Given the description of an element on the screen output the (x, y) to click on. 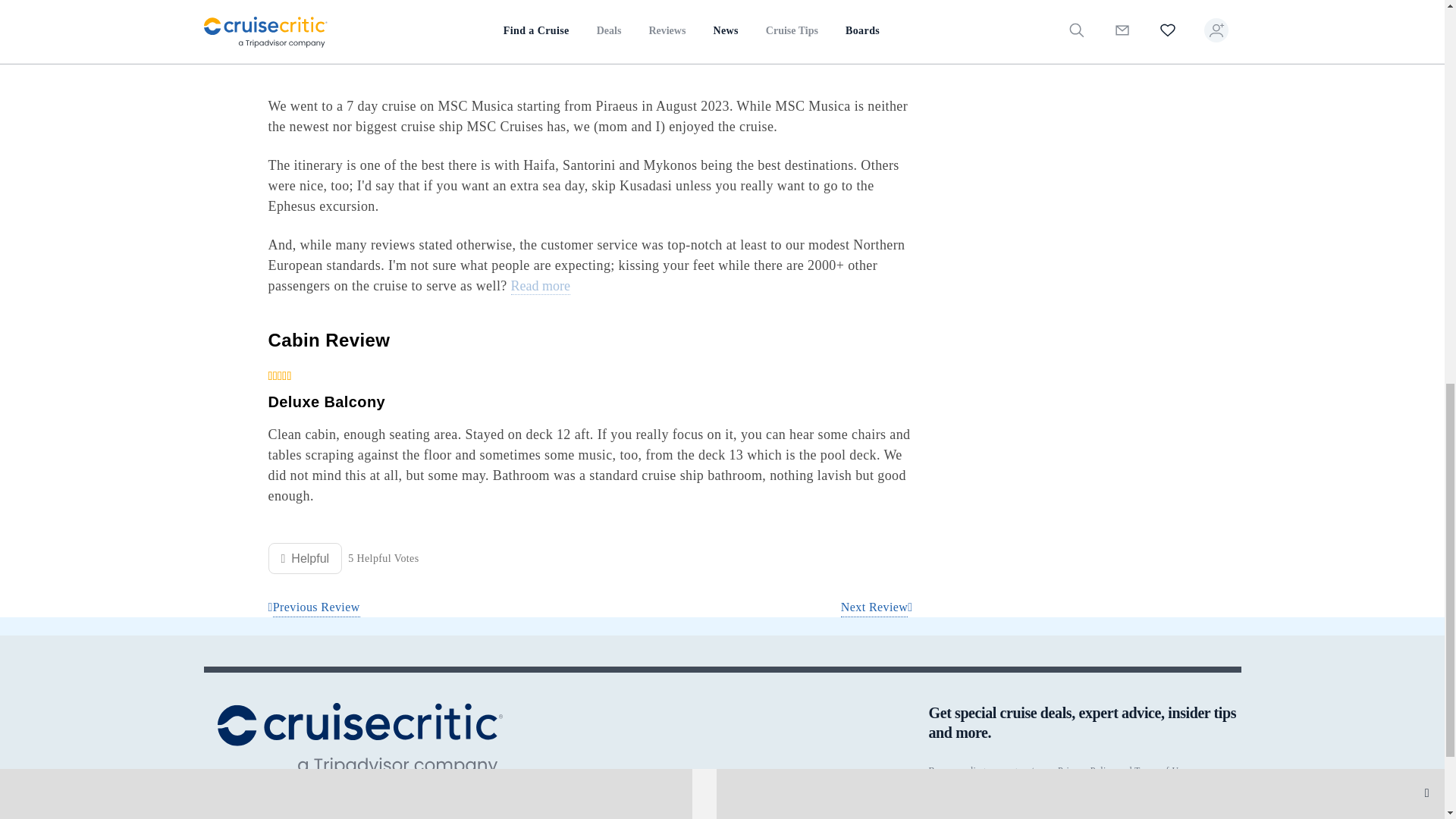
Terms of Use (1160, 769)
Helpful (304, 558)
Previous Review (313, 607)
Privacy Policy (1086, 769)
Read more (540, 286)
Next Review (876, 607)
